Given the description of an element on the screen output the (x, y) to click on. 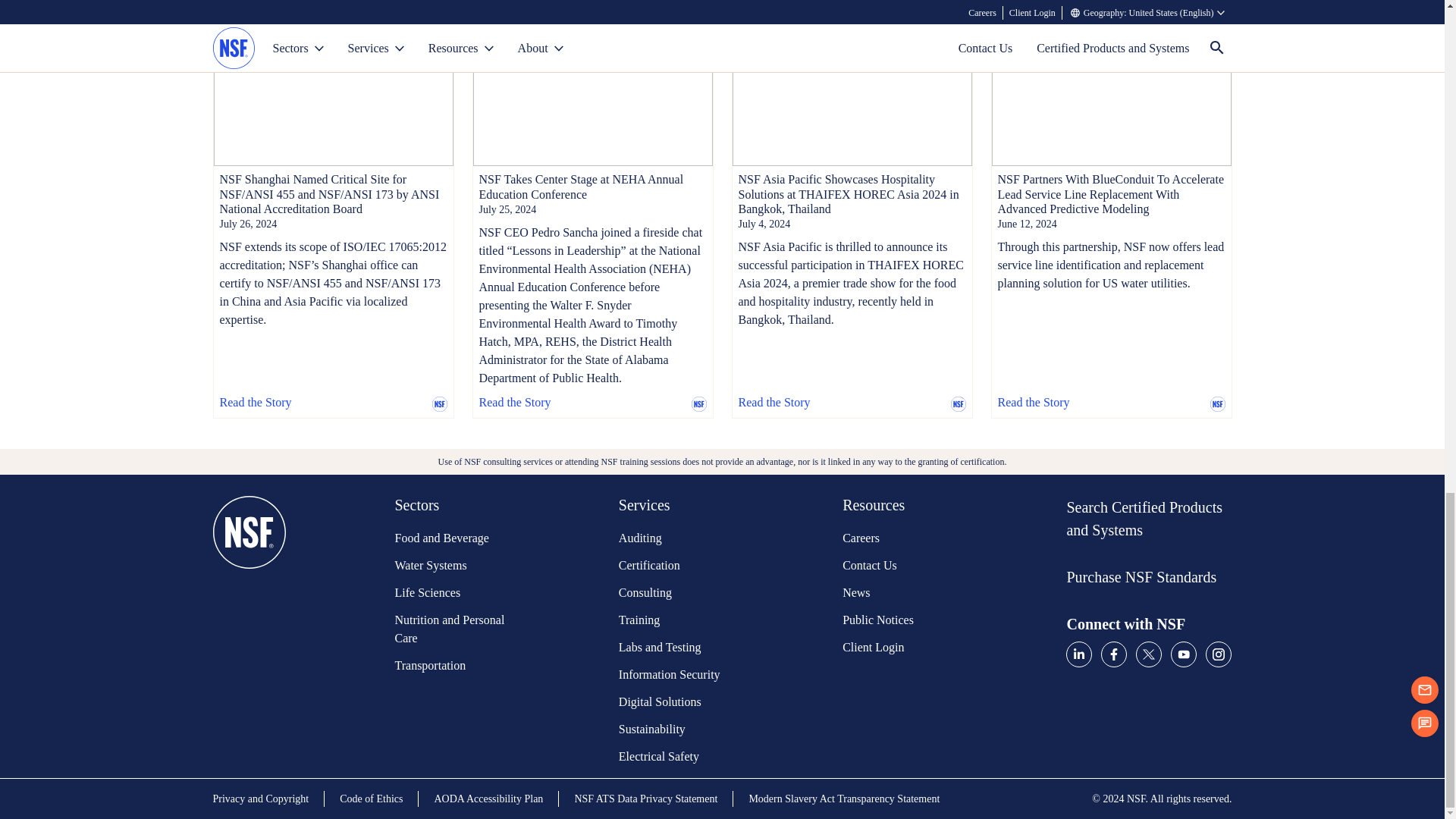
Life Sciences (451, 592)
Water Systems (451, 565)
Transportation (451, 665)
linkedin (1078, 654)
Food and Beverage (451, 538)
youtube (1183, 654)
facebook (1113, 654)
Auditing (675, 538)
Certification (675, 565)
twitter (1148, 654)
